Given the description of an element on the screen output the (x, y) to click on. 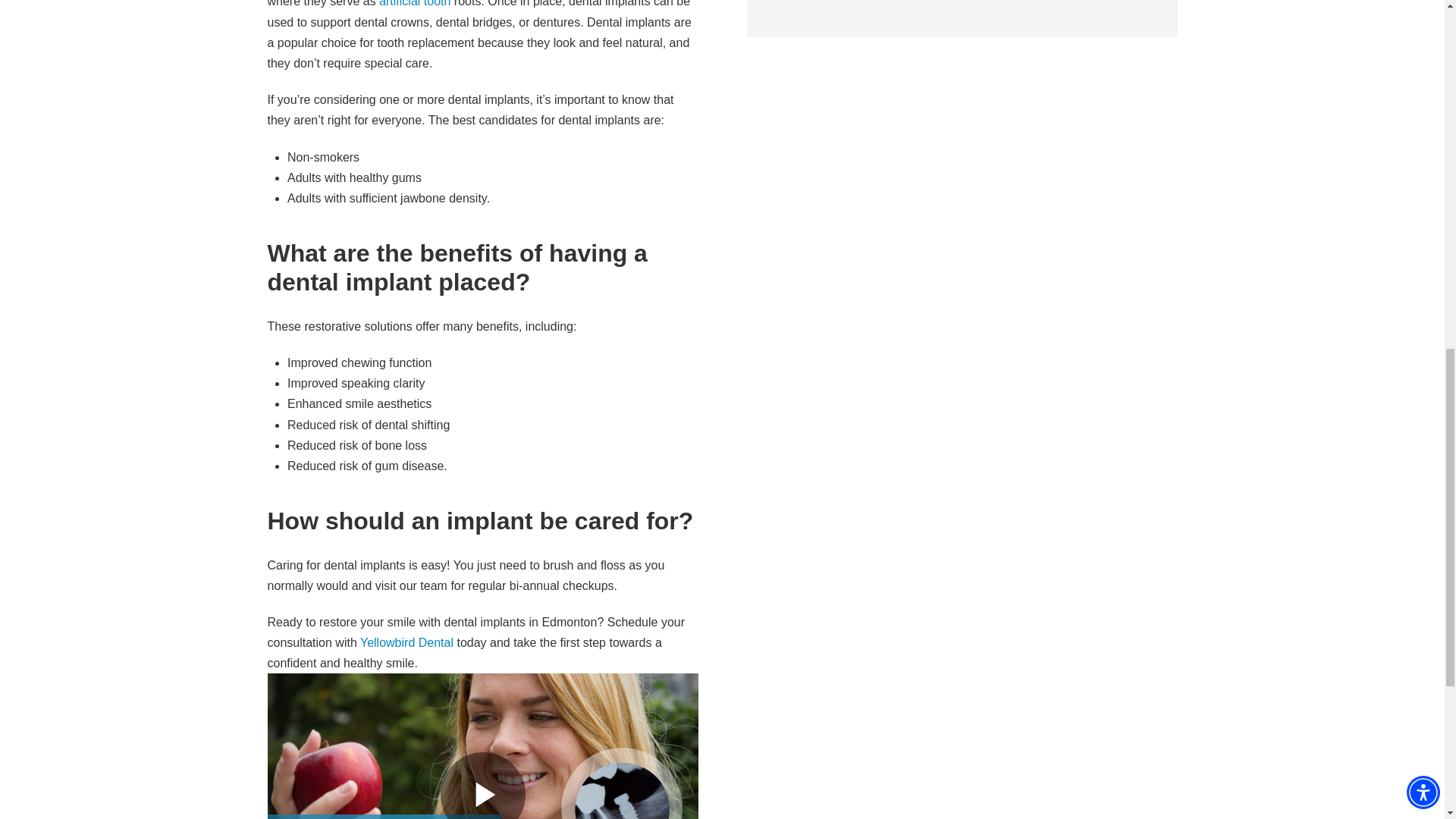
Yellowbird Dental (405, 642)
artificial tooth (413, 3)
